Given the description of an element on the screen output the (x, y) to click on. 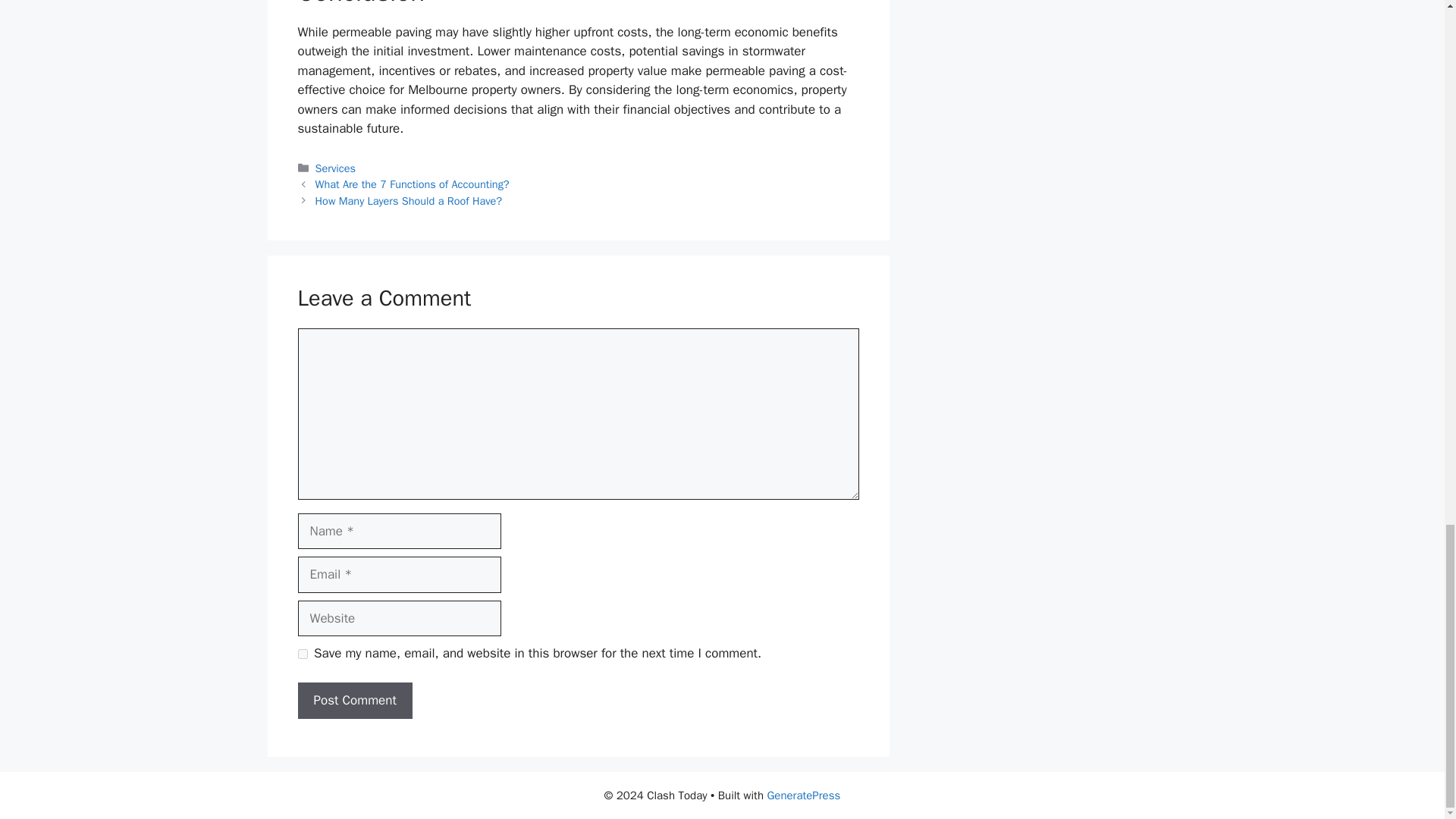
yes (302, 654)
How Many Layers Should a Roof Have? (408, 201)
What Are the 7 Functions of Accounting? (412, 183)
Post Comment (354, 700)
Post Comment (354, 700)
GeneratePress (803, 795)
Services (335, 168)
